Given the description of an element on the screen output the (x, y) to click on. 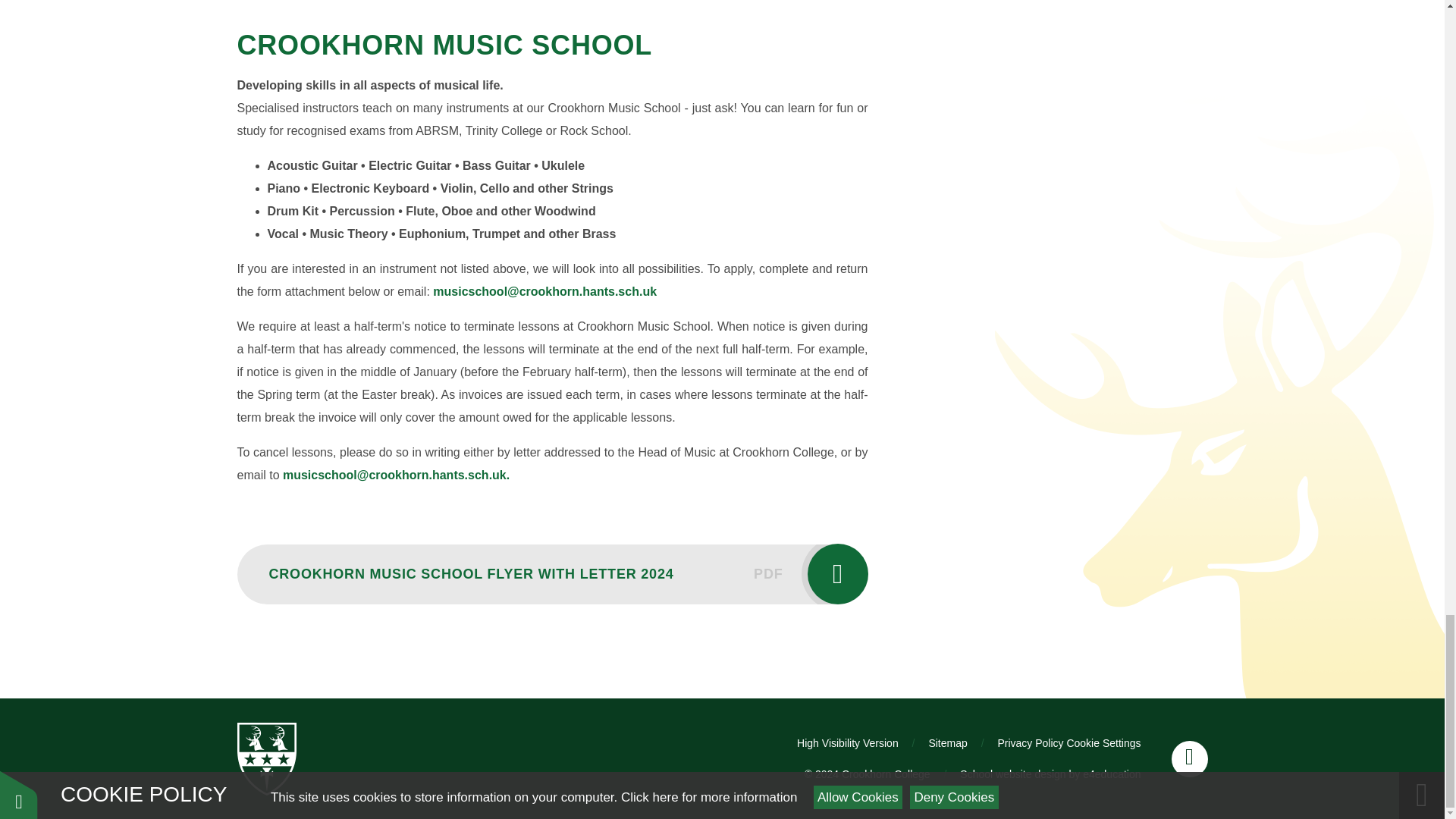
Cookie Settings (1102, 743)
